Given the description of an element on the screen output the (x, y) to click on. 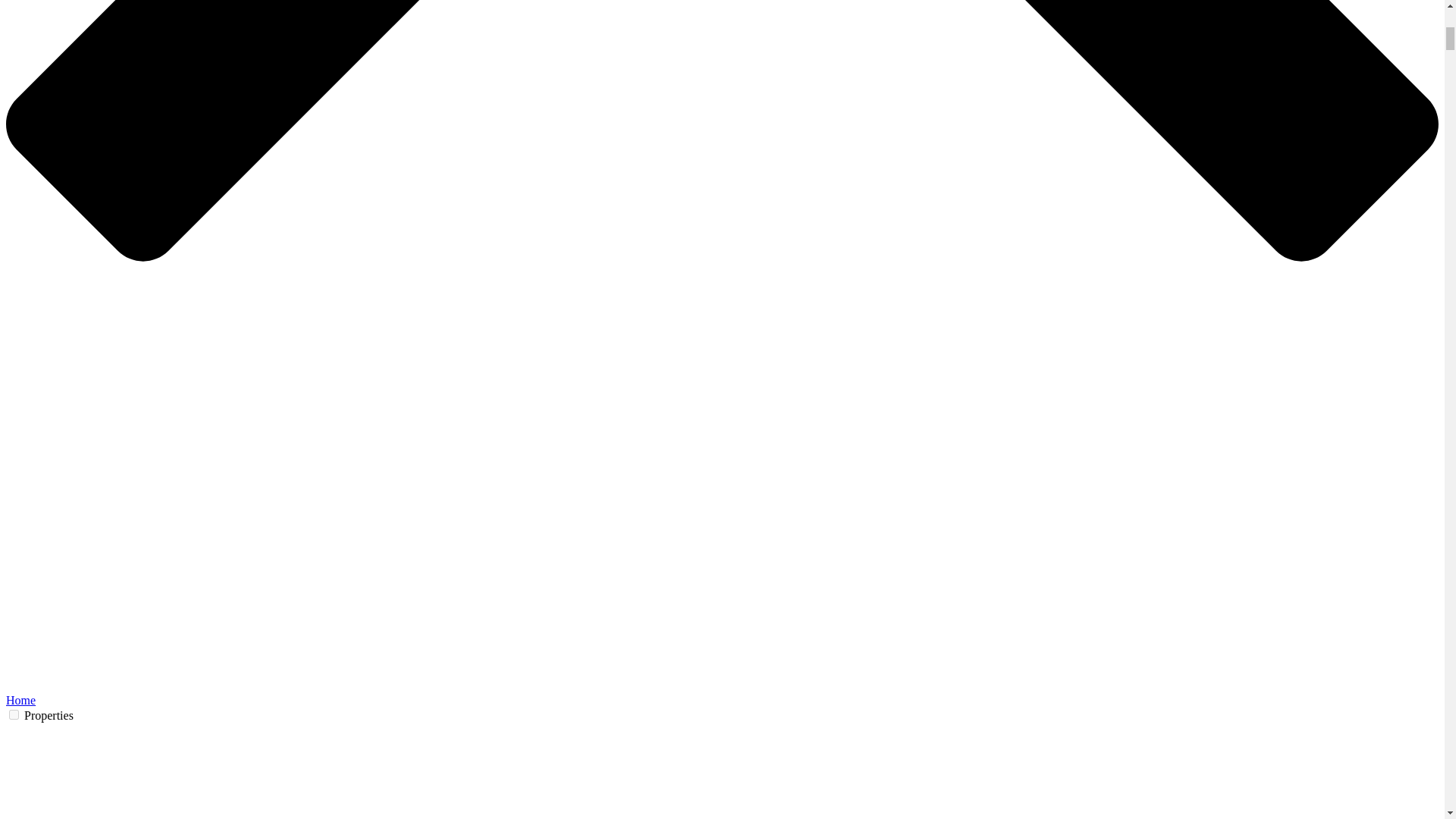
on (13, 714)
Home (19, 699)
